Given the description of an element on the screen output the (x, y) to click on. 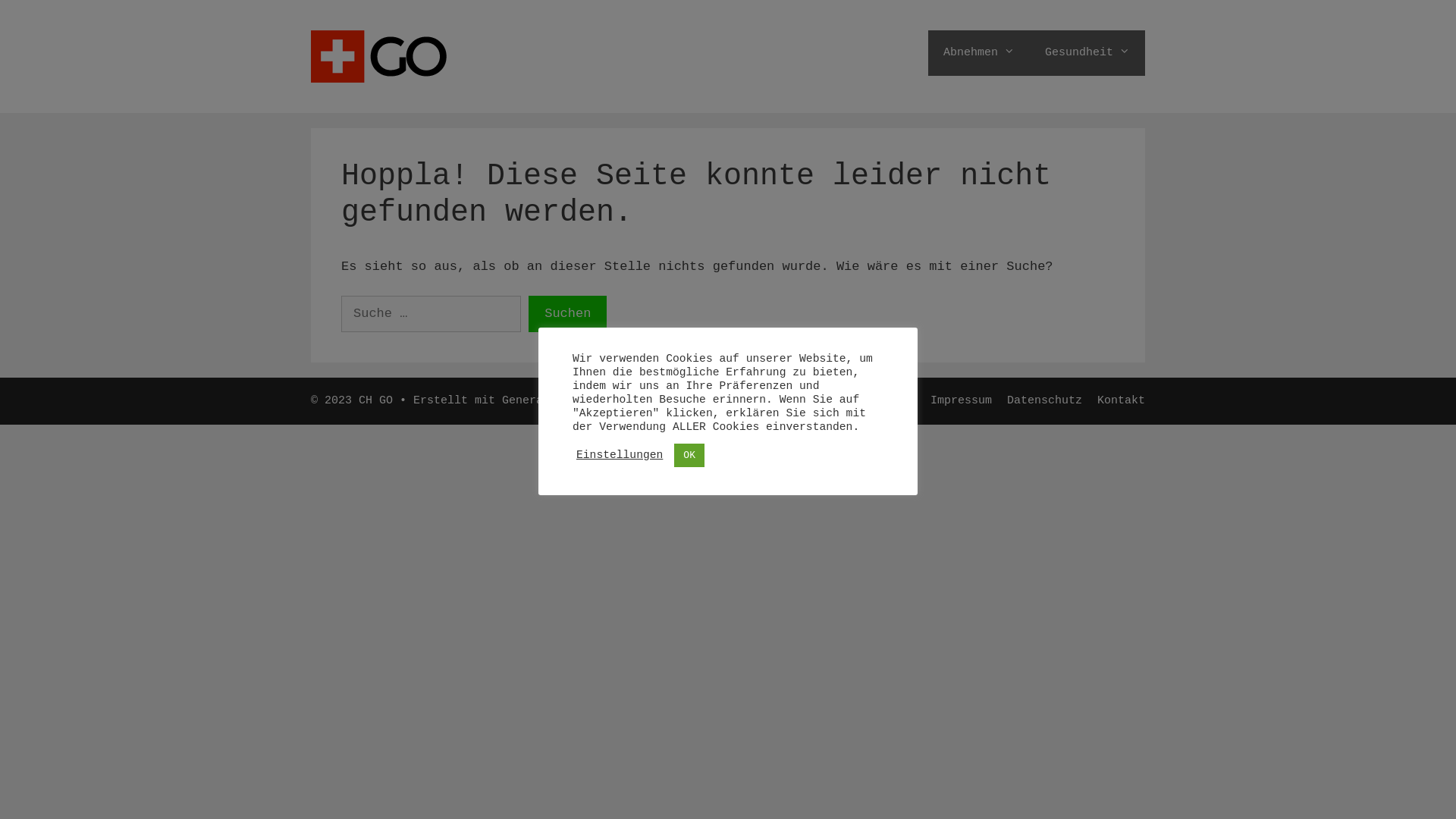
Datenschutz Element type: text (1044, 400)
Einstellungen Element type: text (619, 454)
Gesundheit Element type: text (1087, 52)
Suchen Element type: text (567, 313)
GeneratePress Element type: text (546, 400)
Suche nach: Element type: hover (430, 313)
OK Element type: text (689, 454)
Kontakt Element type: text (1121, 400)
Abnehmen Element type: text (978, 52)
Impressum Element type: text (960, 400)
